Given the description of an element on the screen output the (x, y) to click on. 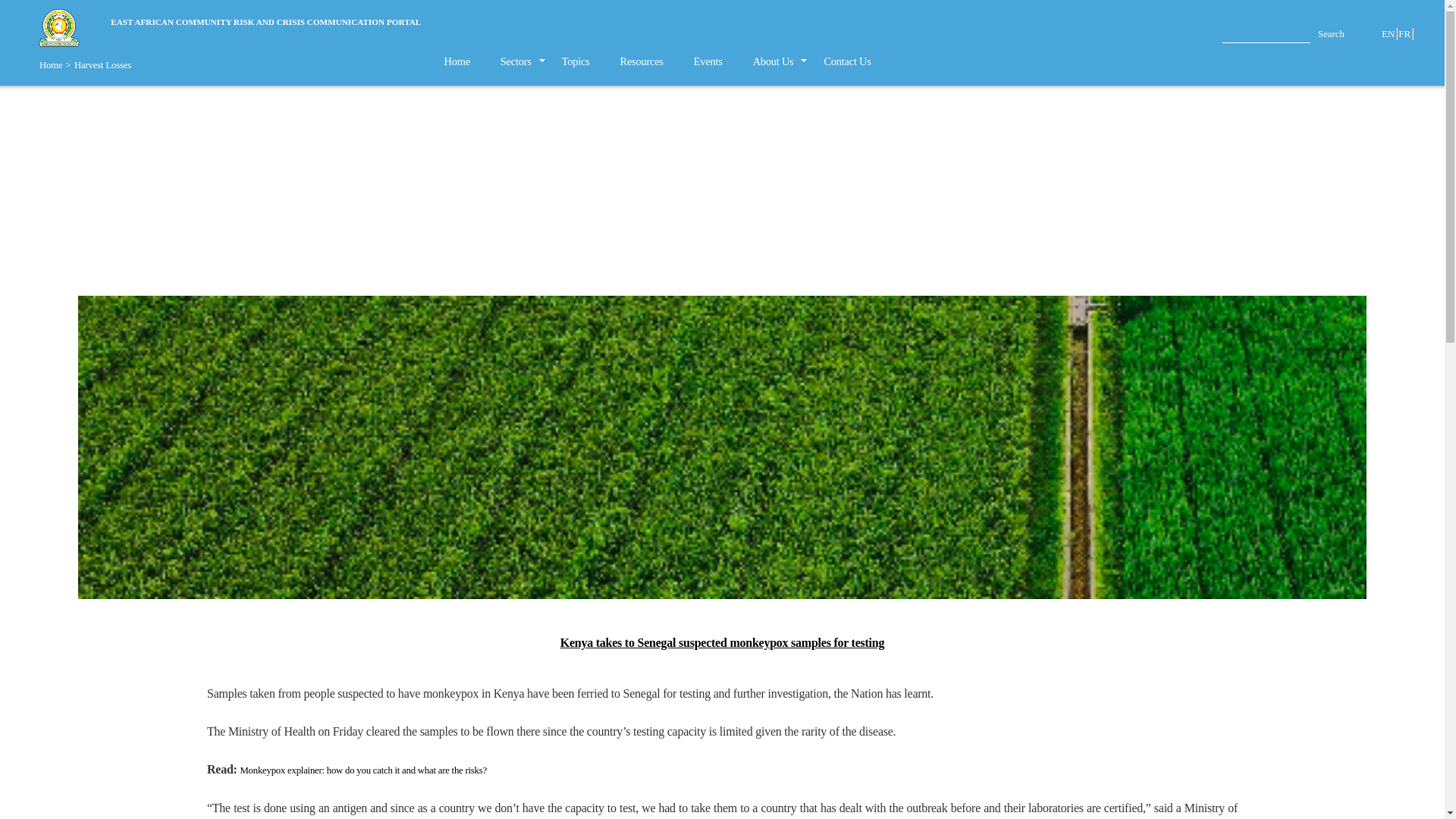
EAST AFRICAN COMMUNITY RISK AND CRISIS COMMUNICATION PORTAL (265, 22)
Resources (641, 61)
Events (708, 61)
Contact Us (846, 61)
FR (1405, 33)
Search (1332, 31)
Topics (576, 61)
Home (50, 64)
Events (708, 61)
Topics (576, 61)
EN (1388, 33)
Contact Us (846, 61)
Home (456, 61)
